Given the description of an element on the screen output the (x, y) to click on. 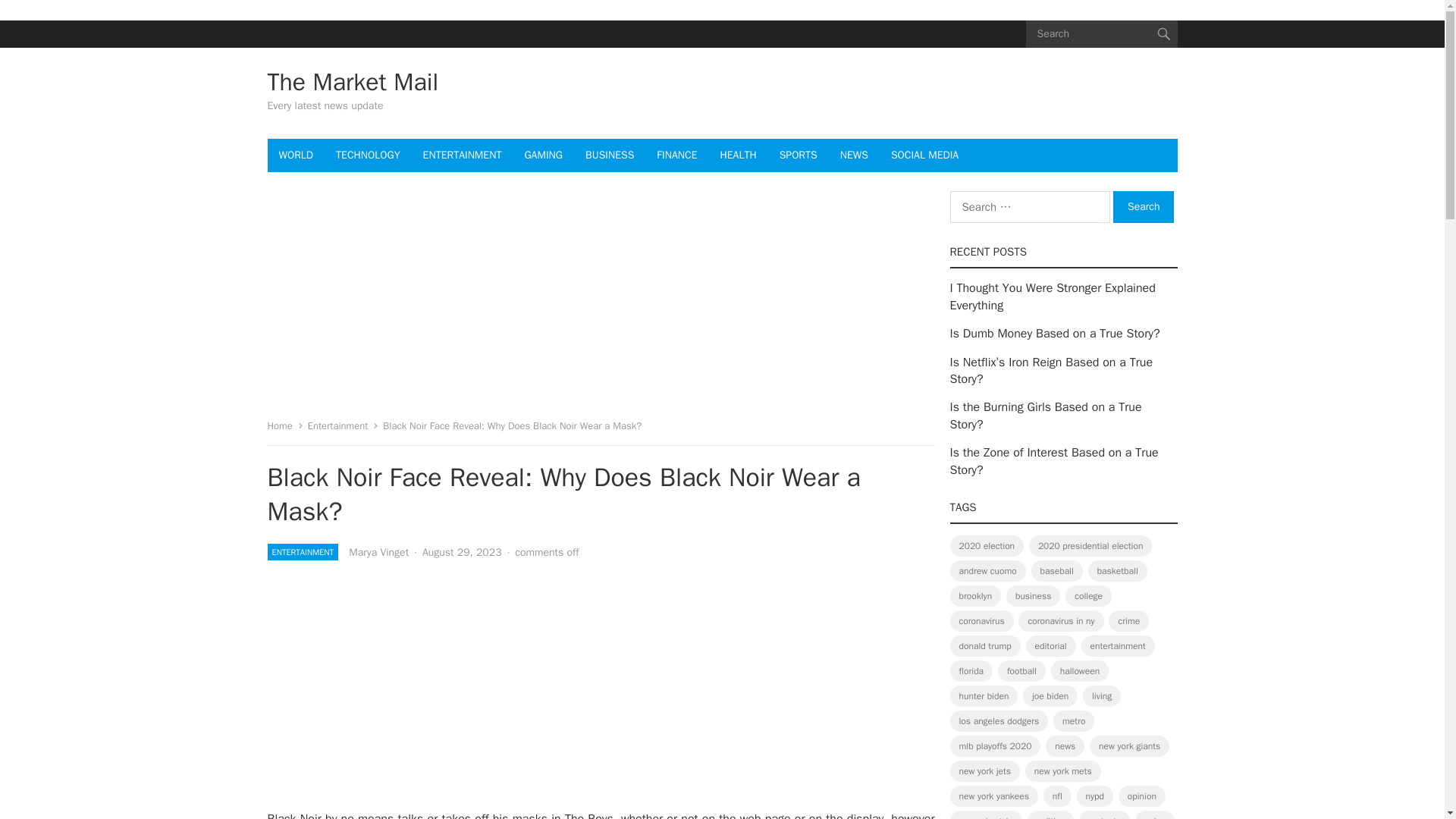
TECHNOLOGY (367, 154)
SPORTS (798, 154)
Entertainment (342, 425)
Search (1143, 206)
ENTERTAINMENT (462, 154)
The Market Mail (352, 82)
HEALTH (738, 154)
Search (1143, 206)
WORLD (295, 154)
Search (1143, 206)
FINANCE (676, 154)
Home (284, 425)
Marya Vinget (379, 552)
